Given the description of an element on the screen output the (x, y) to click on. 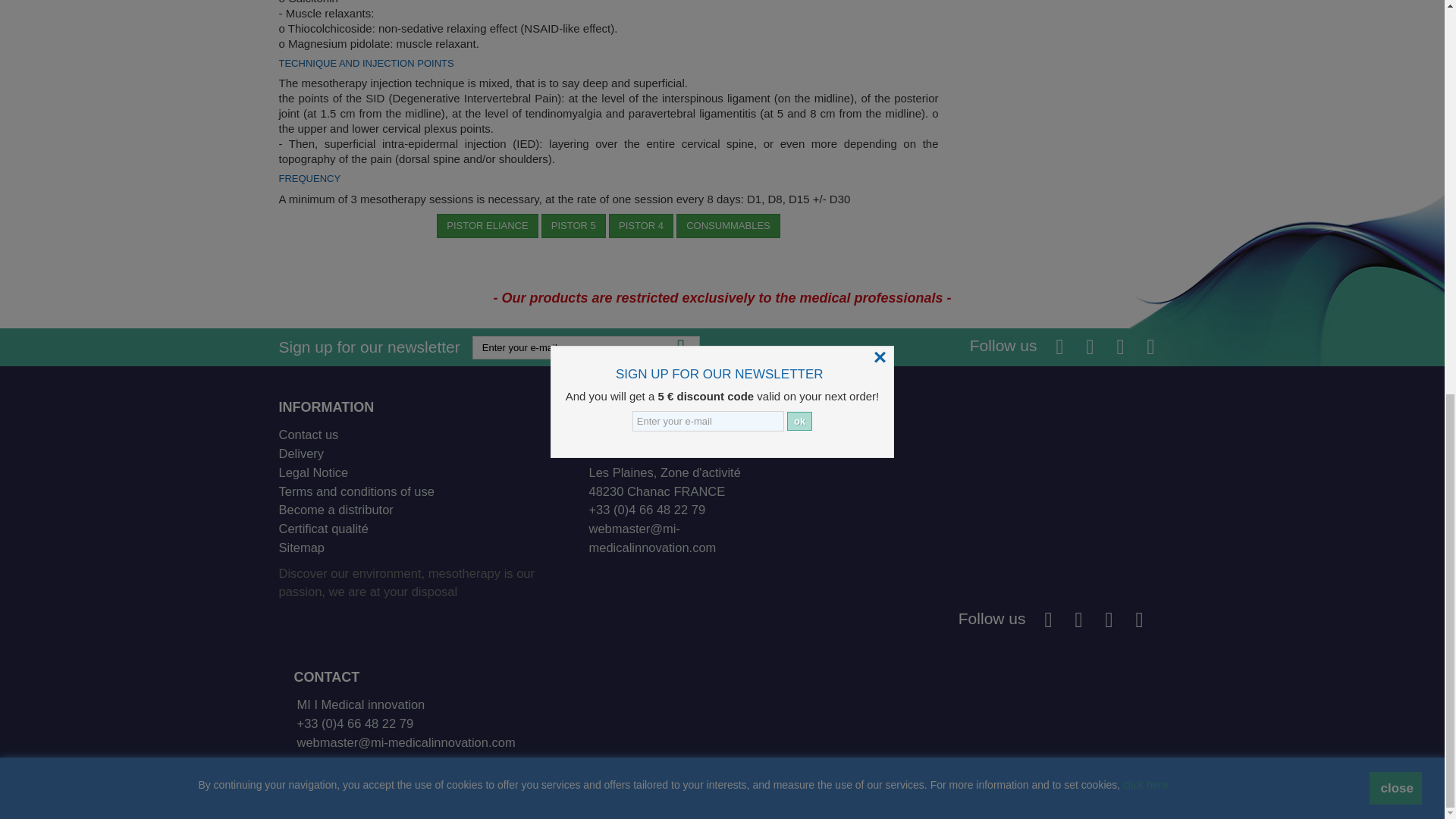
Enter your e-mail (585, 347)
